Given the description of an element on the screen output the (x, y) to click on. 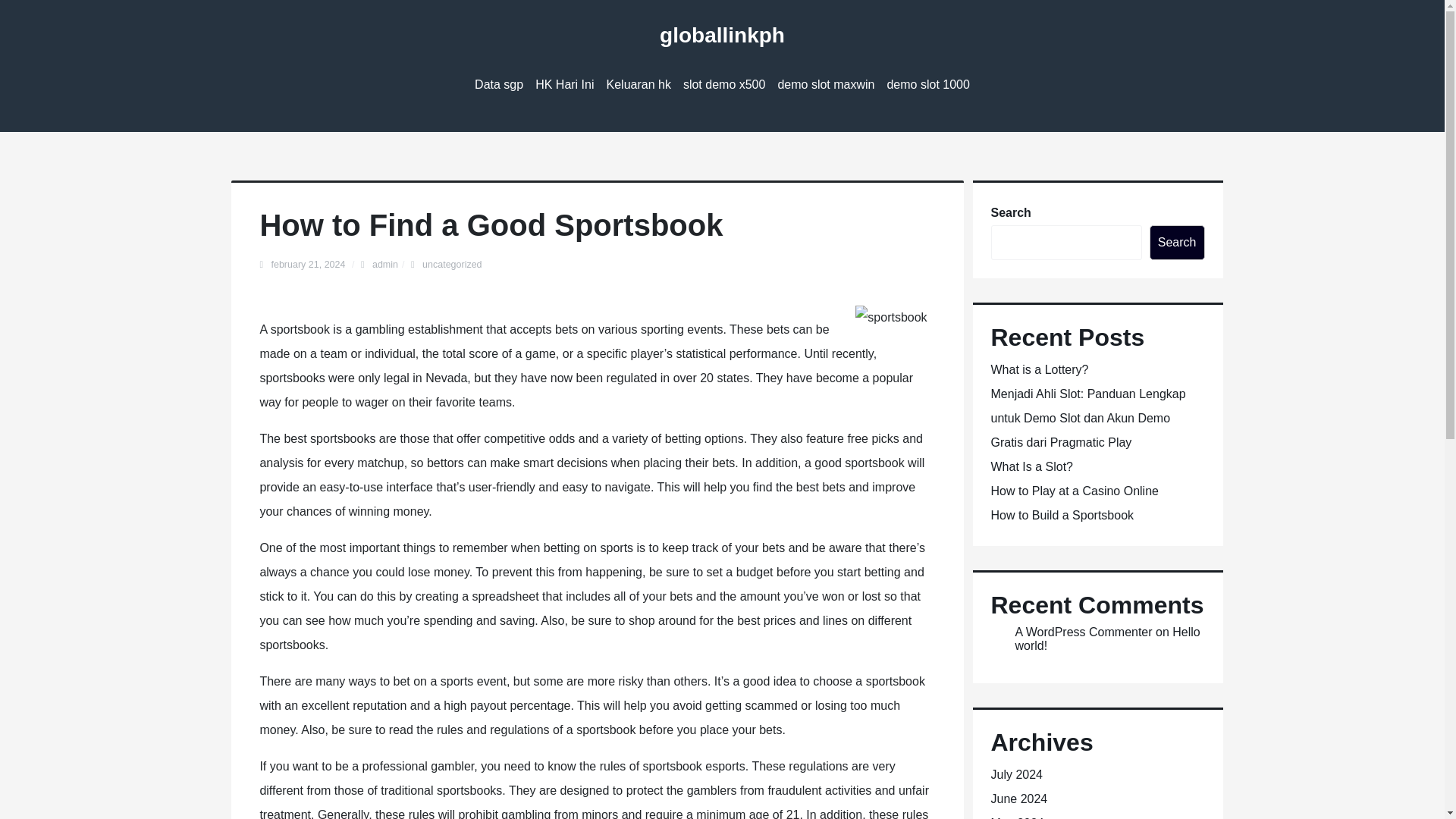
July 2024 (1016, 774)
Data sgp (498, 84)
How to Build a Sportsbook (1062, 514)
A WordPress Commenter (1082, 631)
demo slot 1000 (927, 84)
Hello world! (1106, 638)
Data sgp (498, 84)
HK Hari Ini (564, 84)
June 2024 (1018, 798)
Search (1177, 242)
HK Hari Ini (564, 84)
What is a Lottery? (1038, 369)
What Is a Slot? (1031, 466)
slot demo x500 (724, 84)
Keluaran hk (638, 84)
